Given the description of an element on the screen output the (x, y) to click on. 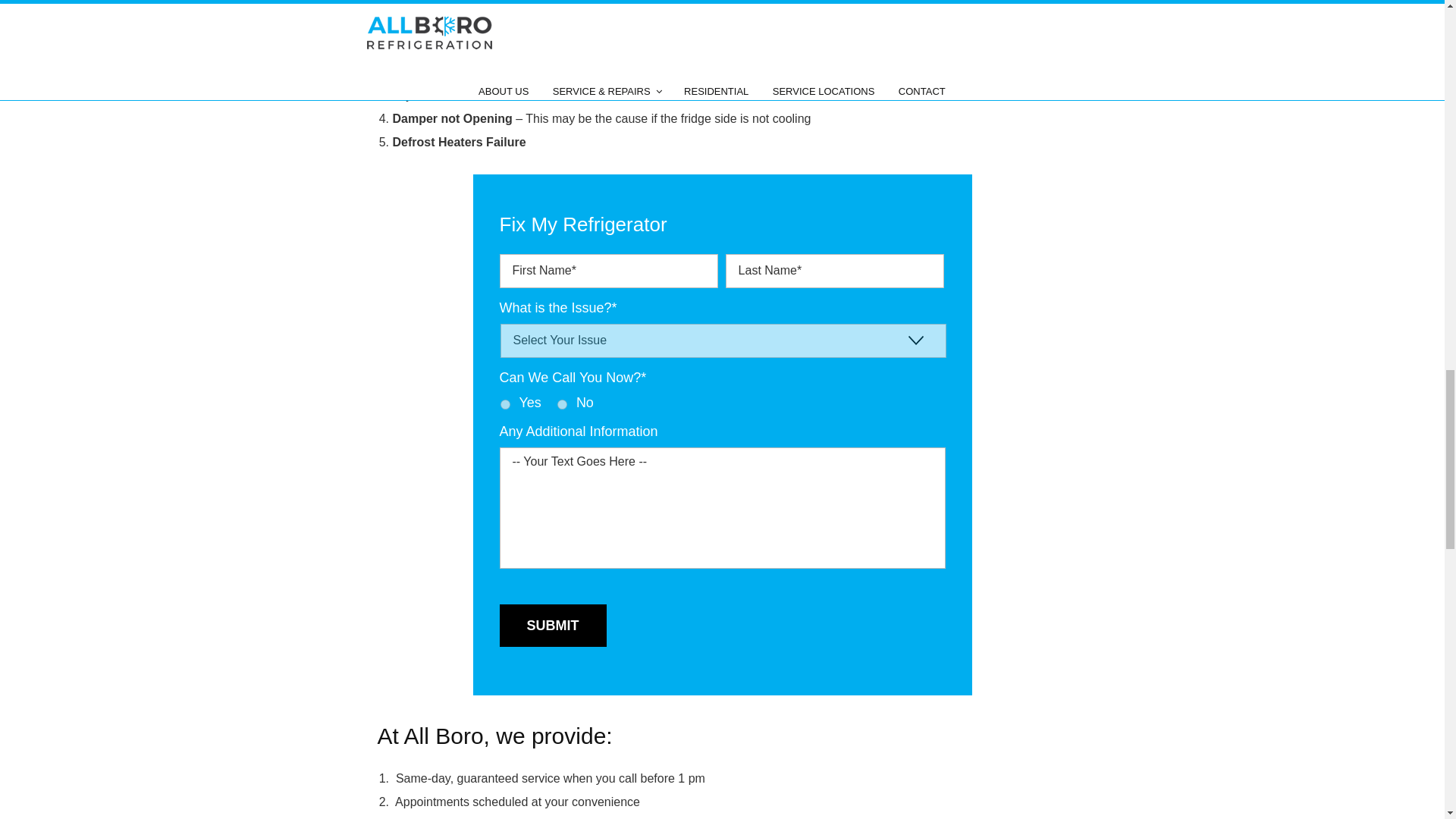
No (562, 404)
Yes (505, 404)
Submit (552, 625)
